Given the description of an element on the screen output the (x, y) to click on. 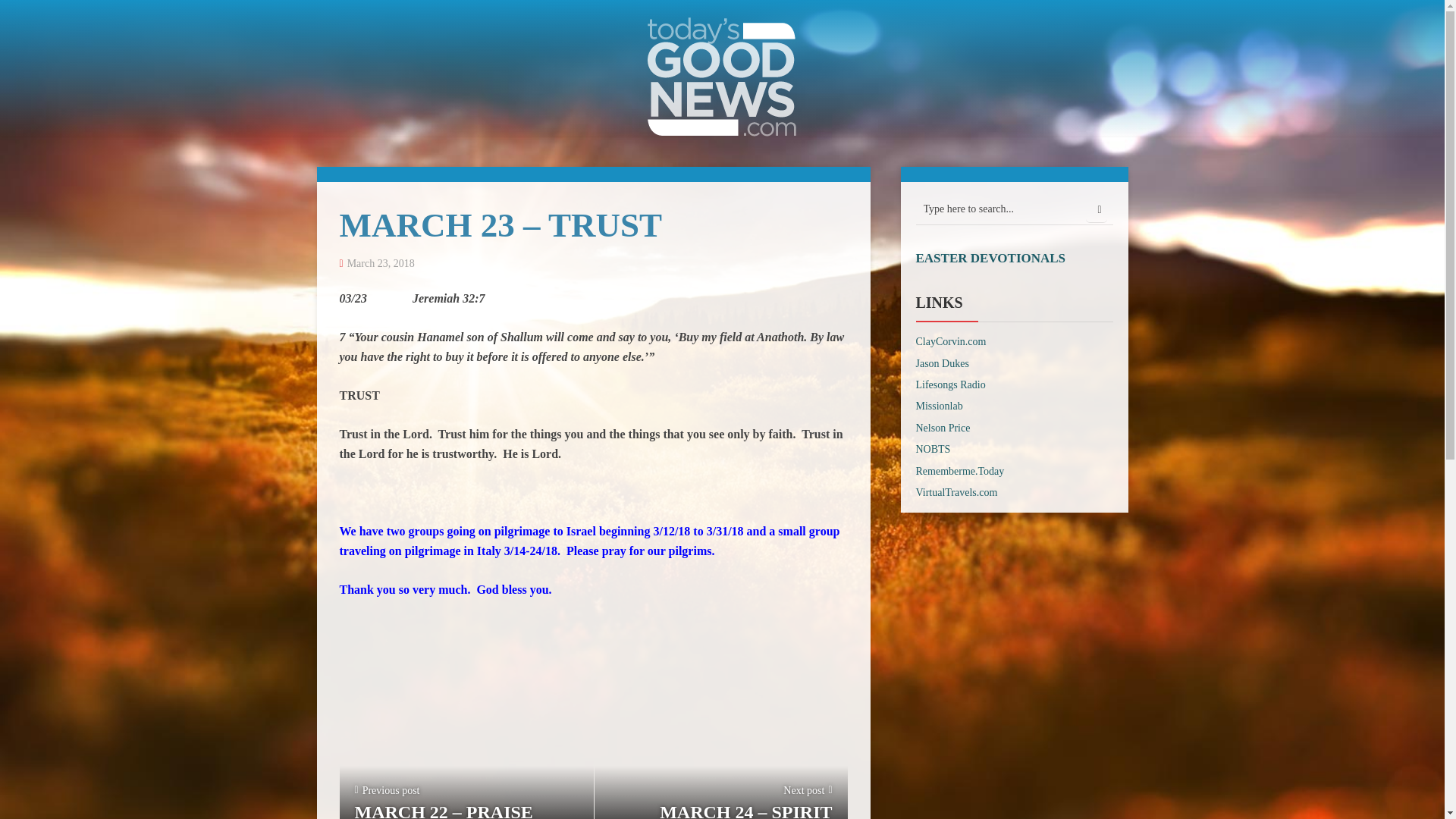
Missionlab (938, 405)
Nelson Price (943, 428)
Type here to search... (1014, 209)
EASTER DEVOTIONALS (990, 257)
VirtualTravels.com (956, 491)
Lifesongs Radio (950, 384)
ClayCorvin.com (951, 341)
Rememberme.Today (959, 471)
Jason Dukes (942, 363)
Today's Good News (721, 75)
NOBTS (932, 449)
Type here to search... (1014, 209)
